Given the description of an element on the screen output the (x, y) to click on. 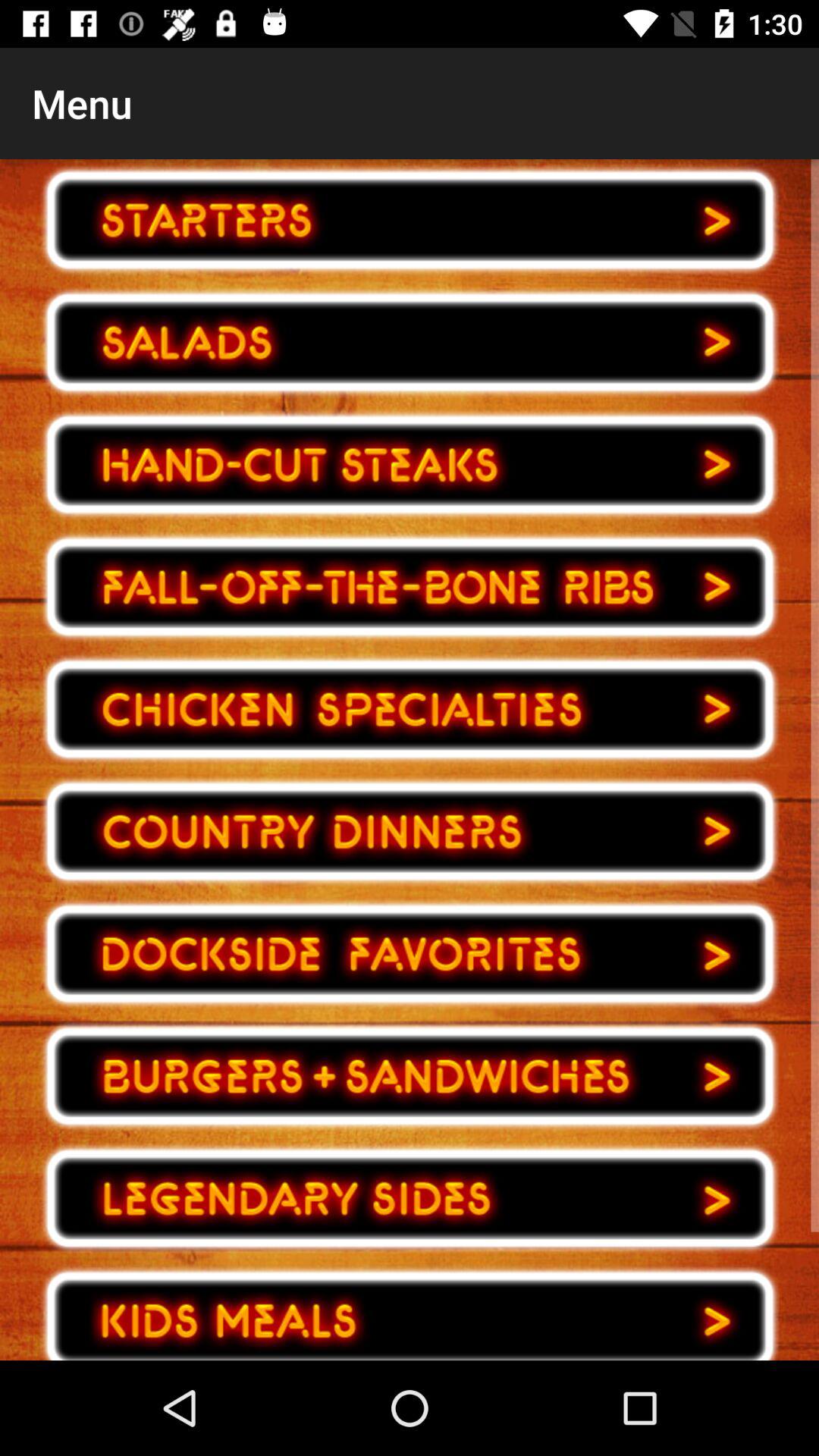
go to starters (409, 220)
